Given the description of an element on the screen output the (x, y) to click on. 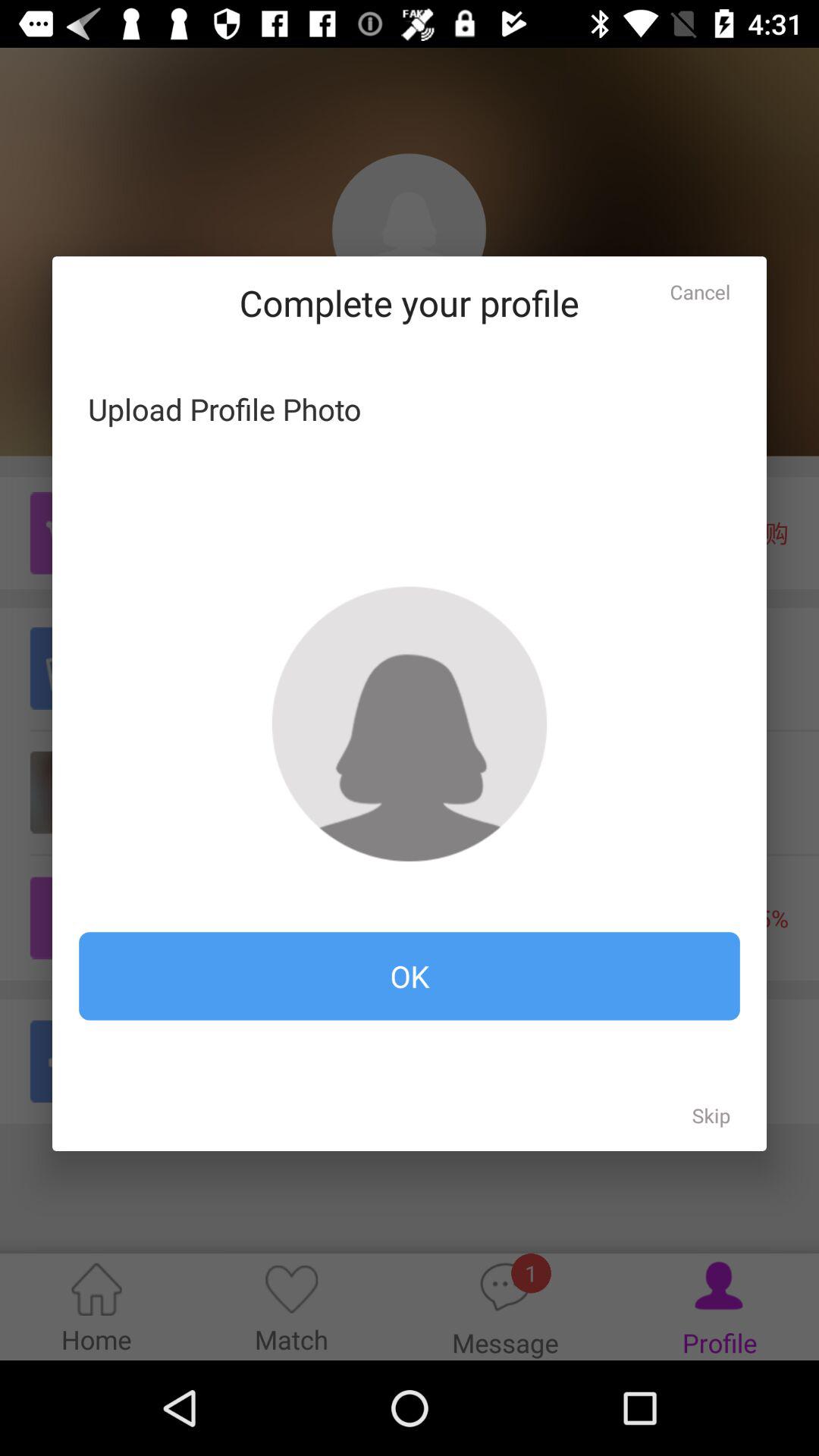
upload profile picture (409, 723)
